Given the description of an element on the screen output the (x, y) to click on. 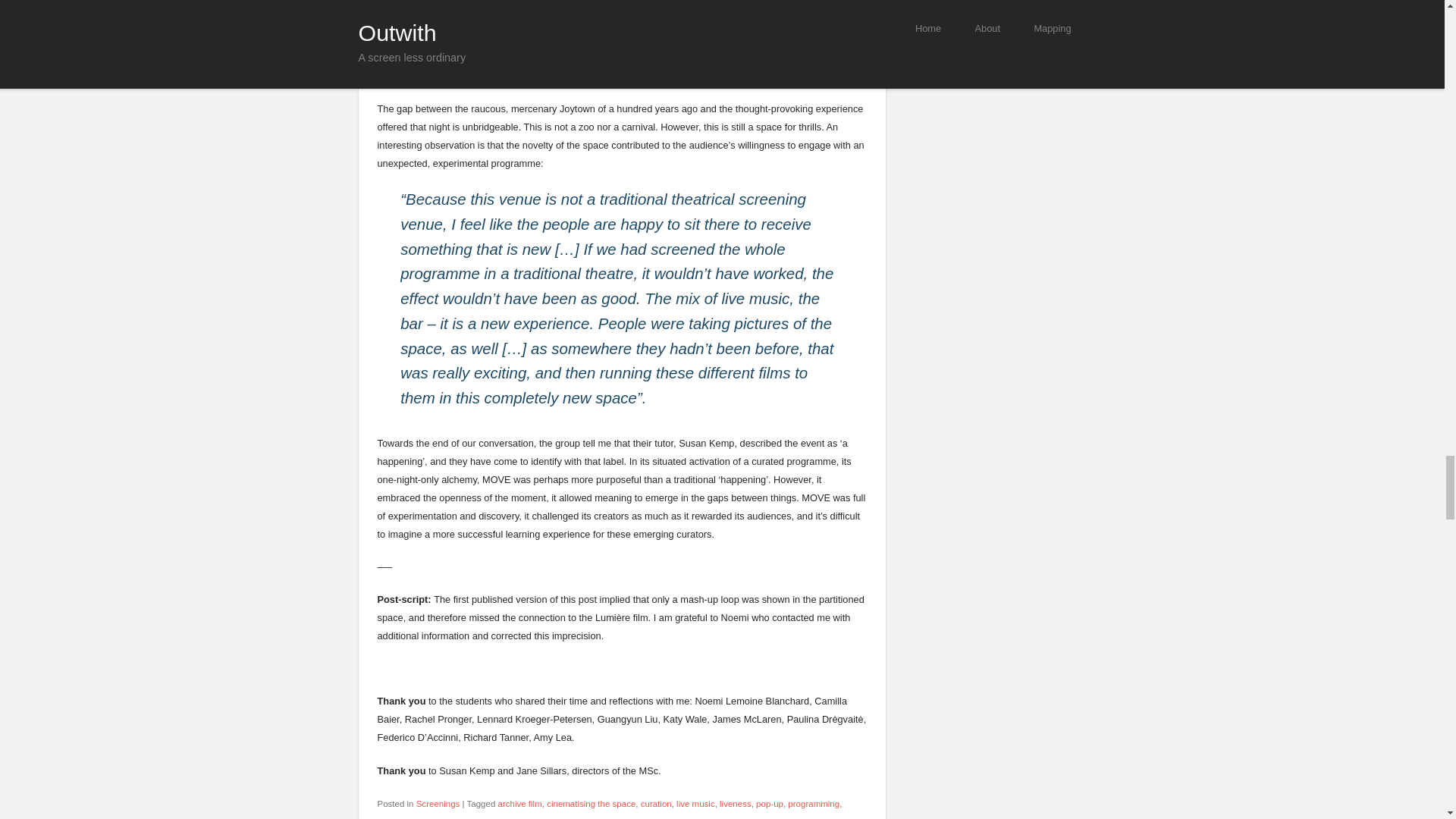
archive film (519, 803)
pop-up (769, 803)
live music (695, 803)
Screenings (438, 803)
programming (813, 803)
curation (655, 803)
Leave a comment (446, 818)
liveness (735, 803)
cinematising the space (590, 803)
spaces (391, 818)
